Given the description of an element on the screen output the (x, y) to click on. 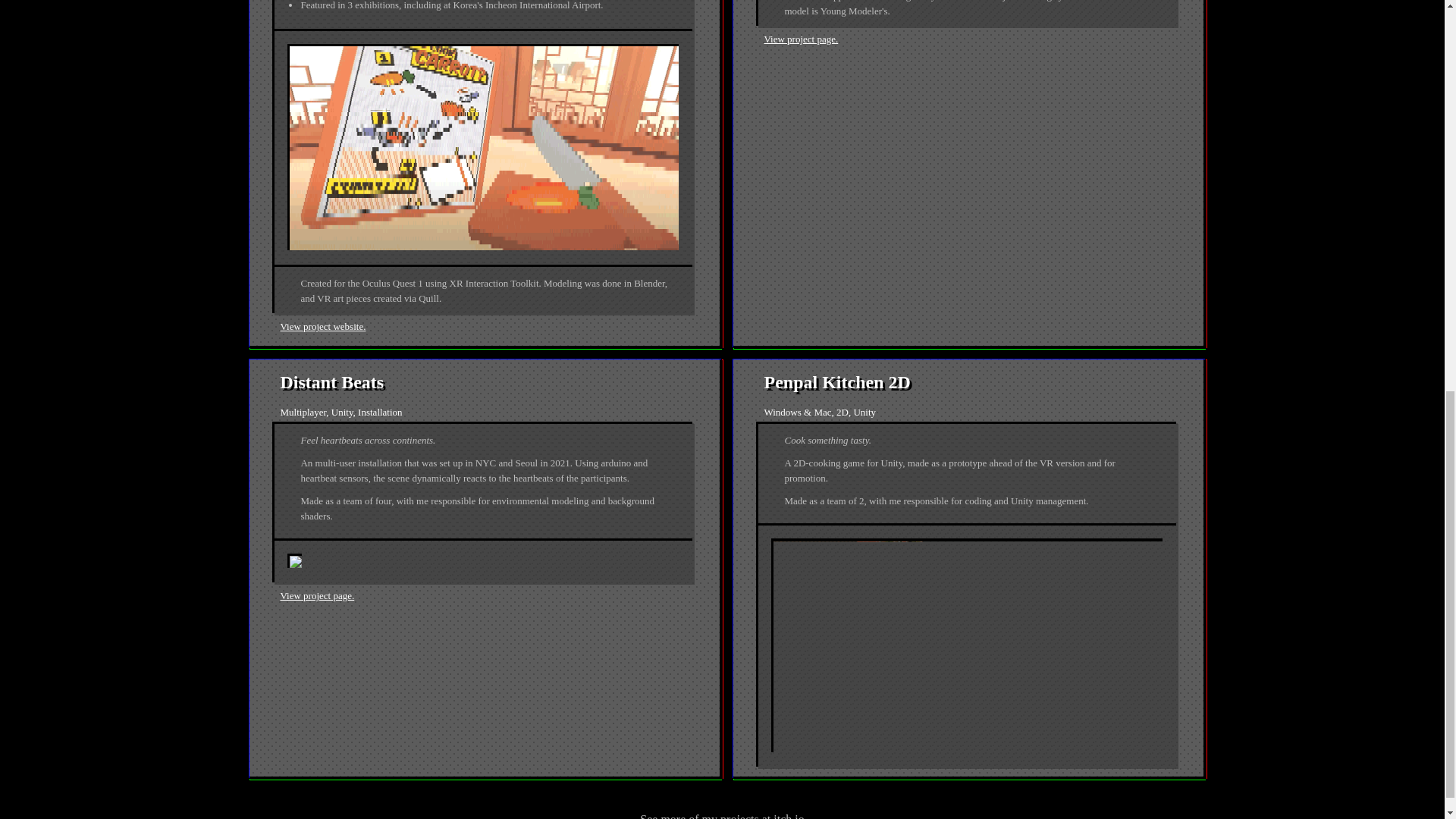
View project page. (800, 39)
View project website. (322, 326)
View project page. (316, 595)
